Given the description of an element on the screen output the (x, y) to click on. 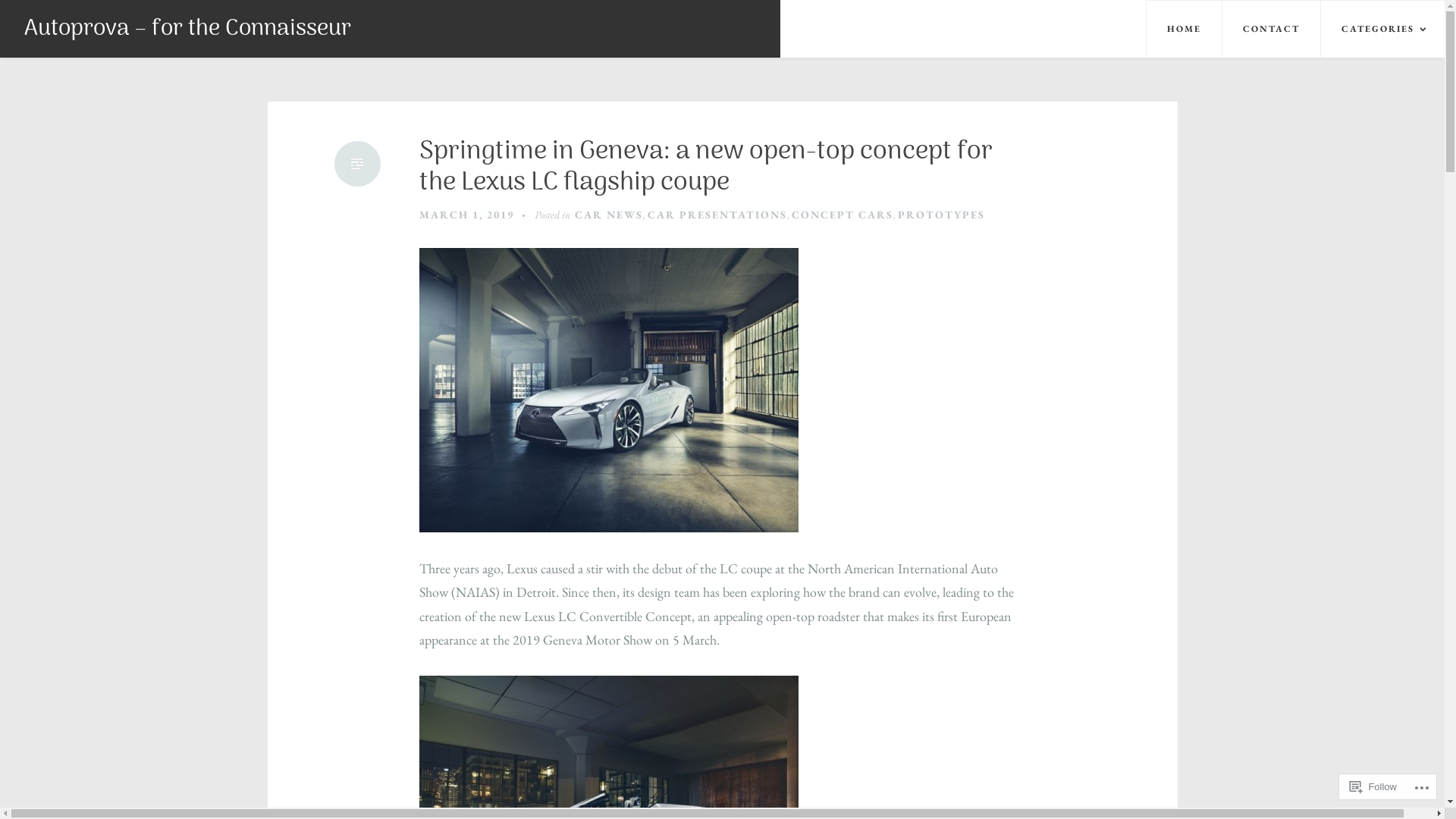
Search Element type: text (34, 15)
PROTOTYPES Element type: text (941, 214)
CATEGORIES Element type: text (1382, 28)
CAR NEWS Element type: text (608, 214)
CONTACT Element type: text (1270, 28)
HOME Element type: text (1183, 28)
CONCEPT CARS Element type: text (842, 214)
CAR PRESENTATIONS Element type: text (717, 214)
Follow Element type: text (1372, 786)
MARCH 1, 2019 Element type: text (465, 214)
